Given the description of an element on the screen output the (x, y) to click on. 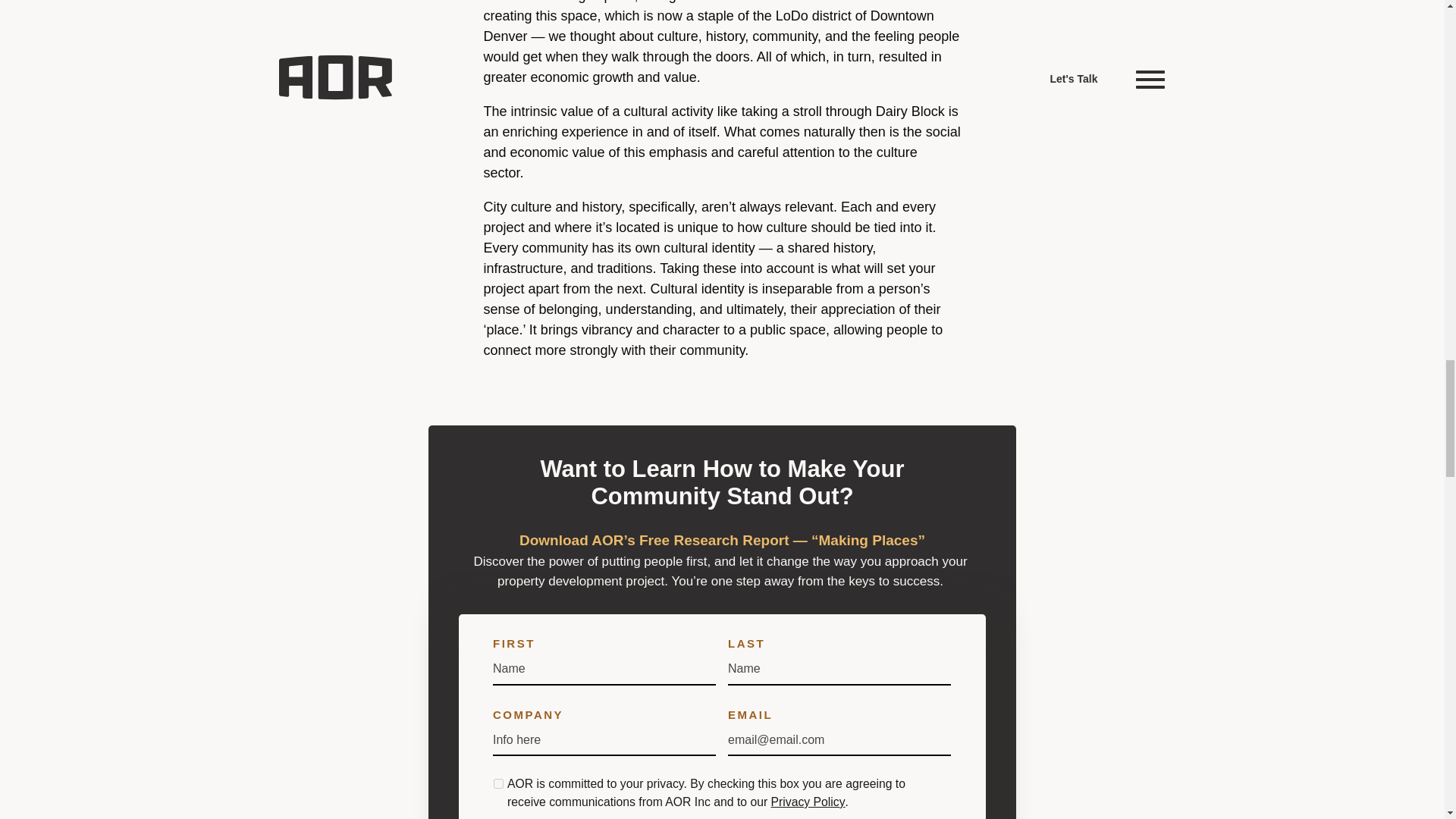
Privacy Policy (808, 801)
